Given the description of an element on the screen output the (x, y) to click on. 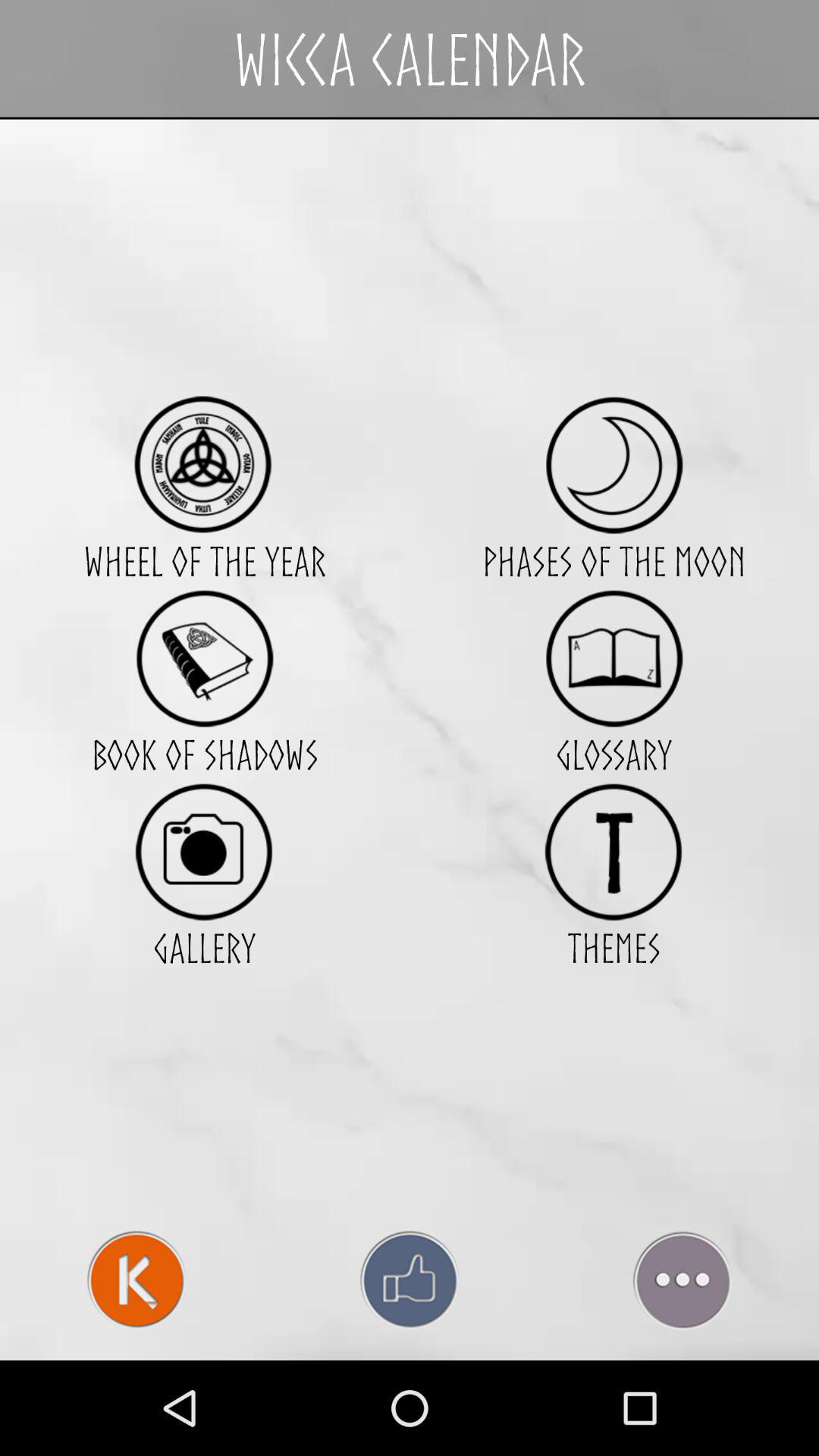
tap the icon to the right of wheel of the icon (613, 658)
